Given the description of an element on the screen output the (x, y) to click on. 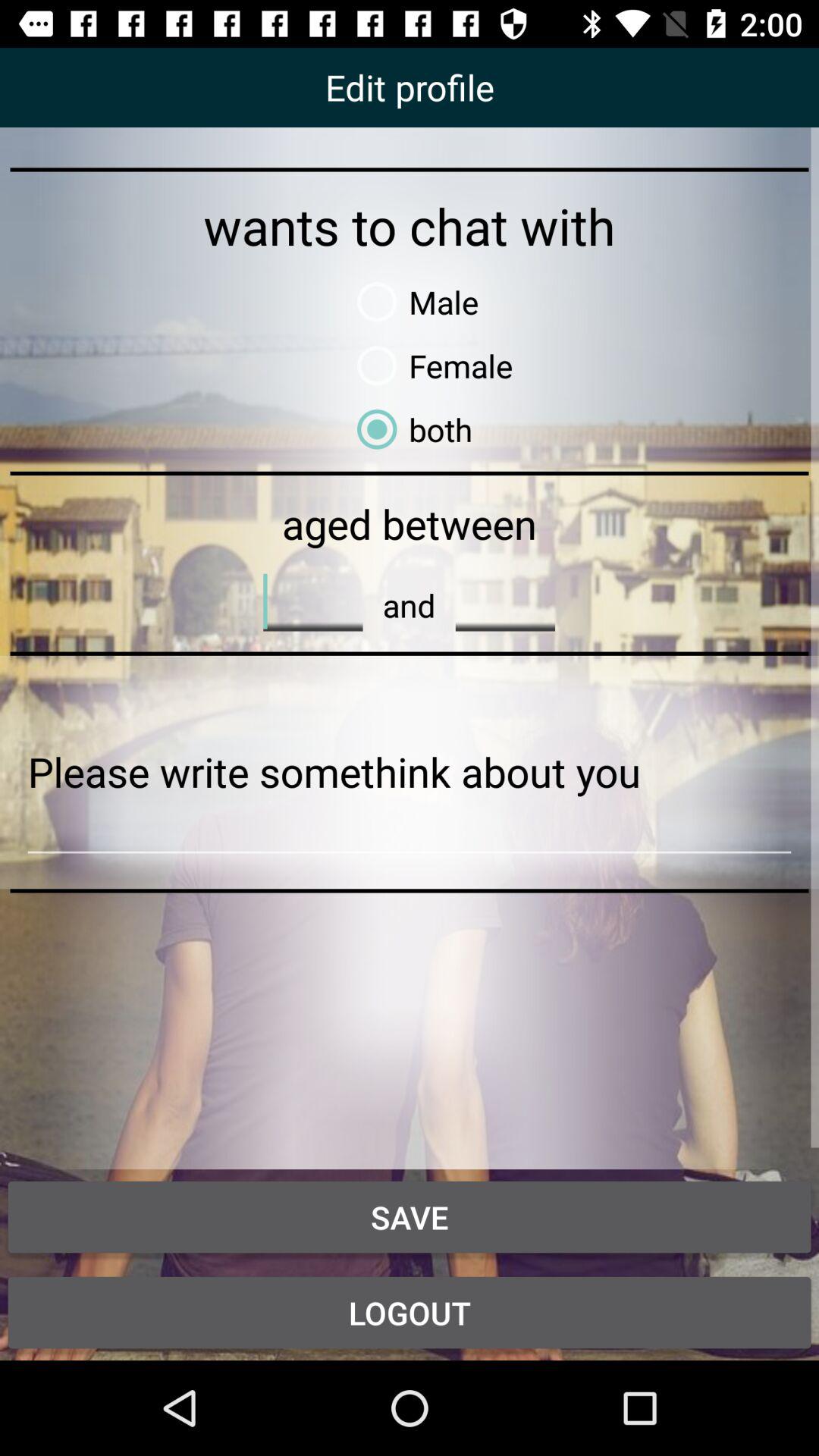
advertisement page (409, 772)
